Given the description of an element on the screen output the (x, y) to click on. 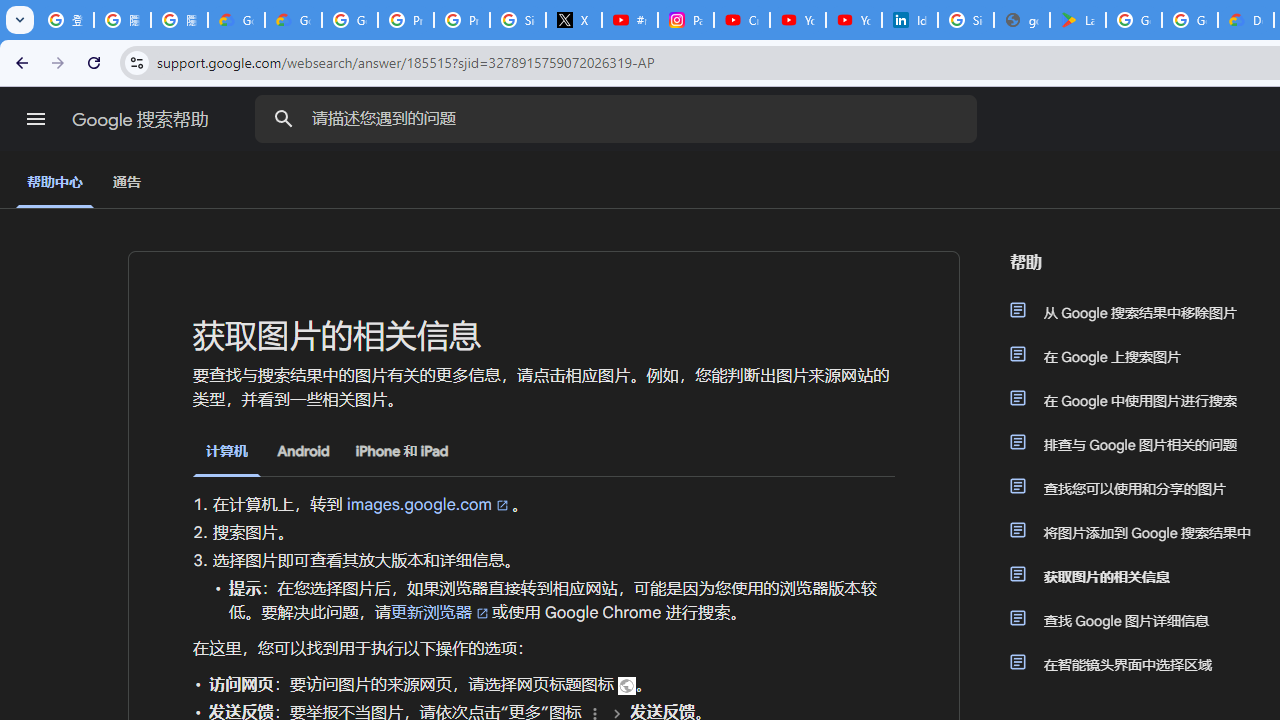
Android (303, 451)
Privacy Help Center - Policies Help (461, 20)
Visit page (627, 685)
Google Cloud Privacy Notice (293, 20)
YouTube Culture & Trends - YouTube Top 10, 2021 (853, 20)
Last Shelter: Survival - Apps on Google Play (1077, 20)
images.google.com (429, 504)
Google Workspace - Specific Terms (1190, 20)
Privacy Help Center - Policies Help (405, 20)
